Given the description of an element on the screen output the (x, y) to click on. 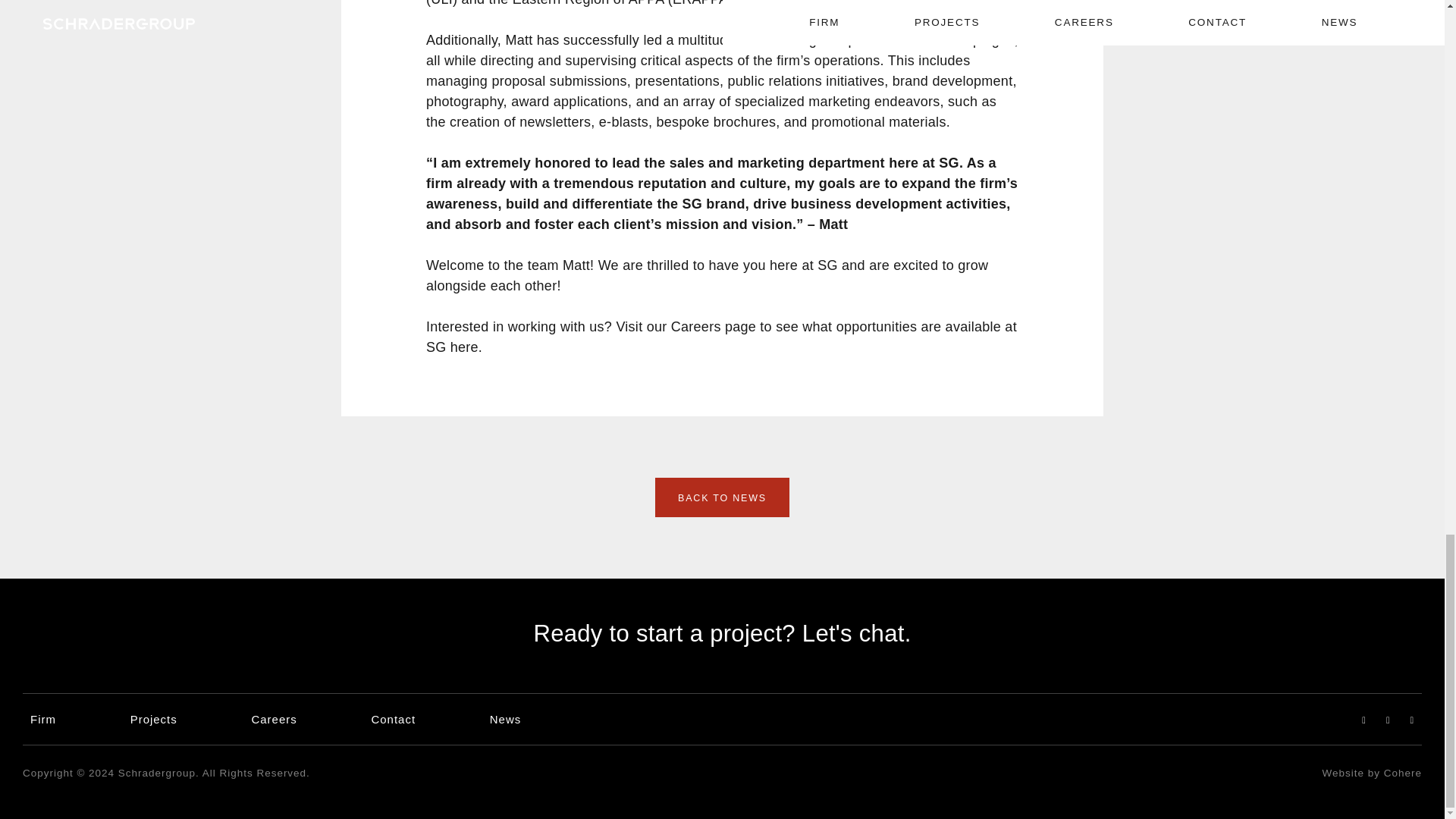
here (464, 346)
Careers (273, 718)
Projects (154, 718)
BACK TO NEWS (722, 496)
Contact (392, 718)
Cohere (1403, 772)
News (505, 718)
Firm (43, 718)
Let's chat (853, 633)
